Given the description of an element on the screen output the (x, y) to click on. 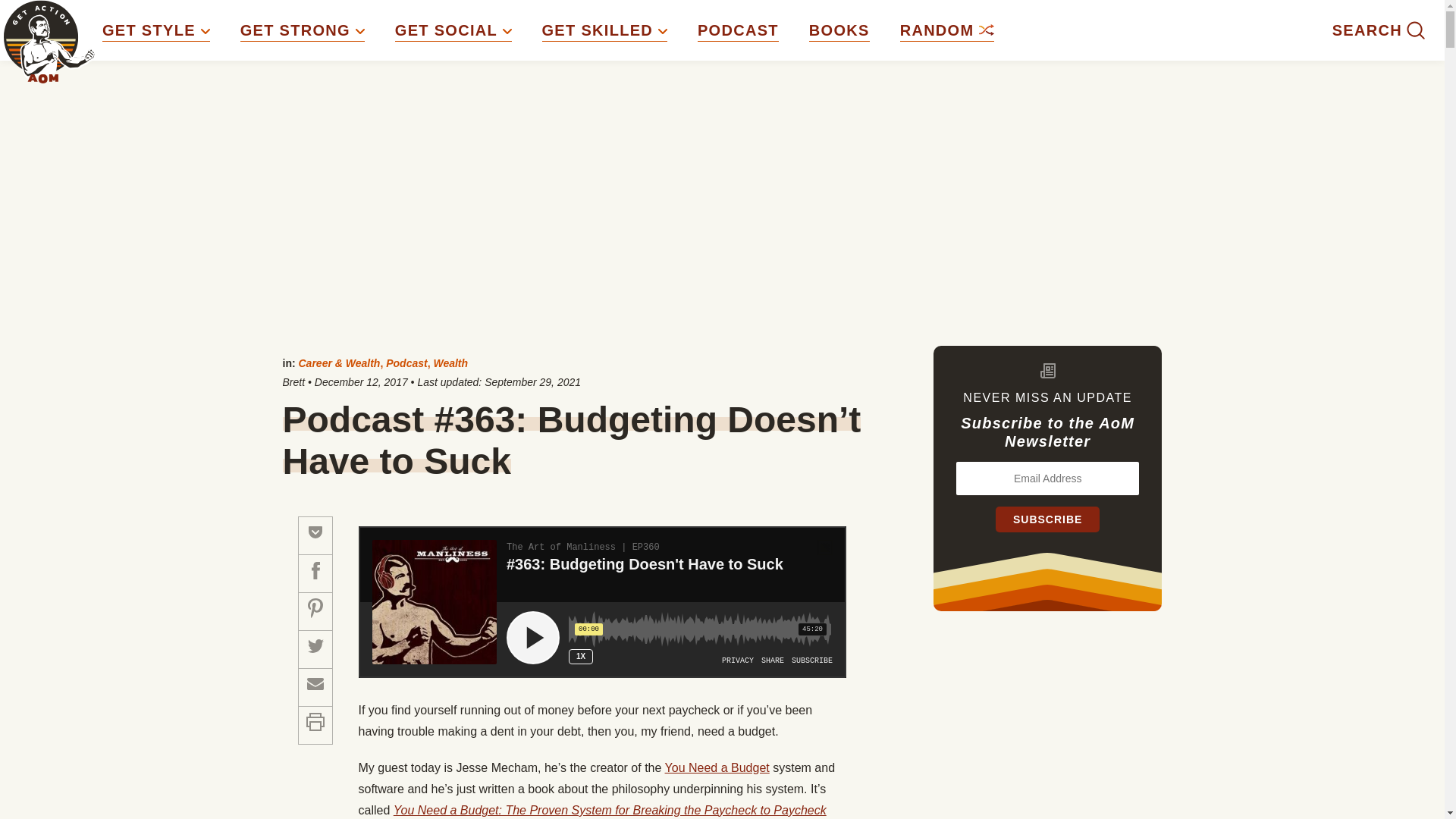
GET SOCIAL (453, 30)
GET STYLE (155, 30)
BOOKS (839, 30)
GET STRONG (302, 30)
Subscribe (1047, 519)
GET SKILLED (603, 30)
PODCAST (737, 30)
RANDOM (946, 30)
